Given the description of an element on the screen output the (x, y) to click on. 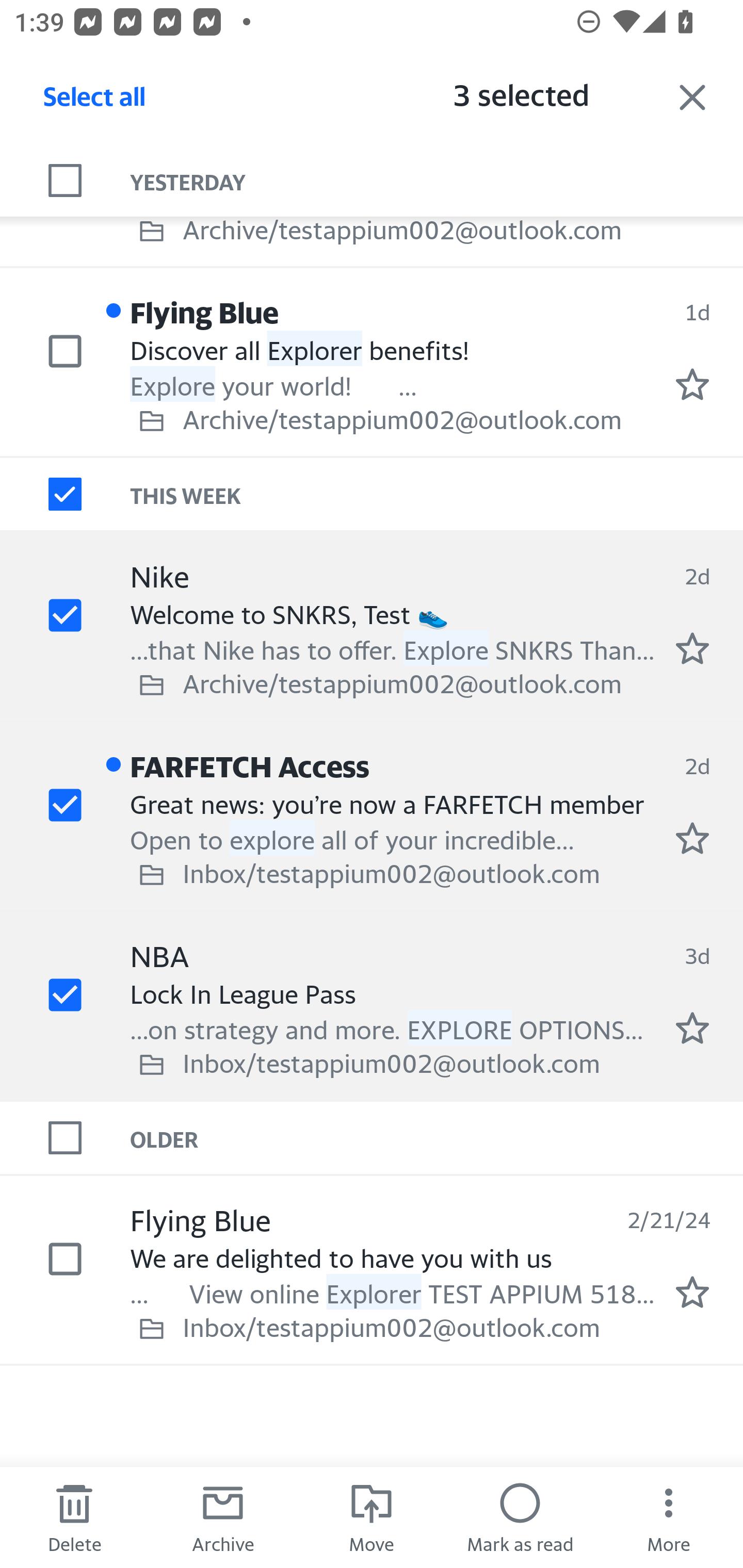
Exit selection mode (692, 97)
Select all (94, 101)
Mark as starred. (692, 384)
THIS WEEK (436, 494)
Mark as starred. (692, 648)
Mark as starred. (692, 838)
Mark as starred. (692, 1027)
OLDER (436, 1137)
Mark as starred. (692, 1291)
Delete (74, 1517)
Archive (222, 1517)
Move (371, 1517)
Mark as read (519, 1517)
More (668, 1517)
